Given the description of an element on the screen output the (x, y) to click on. 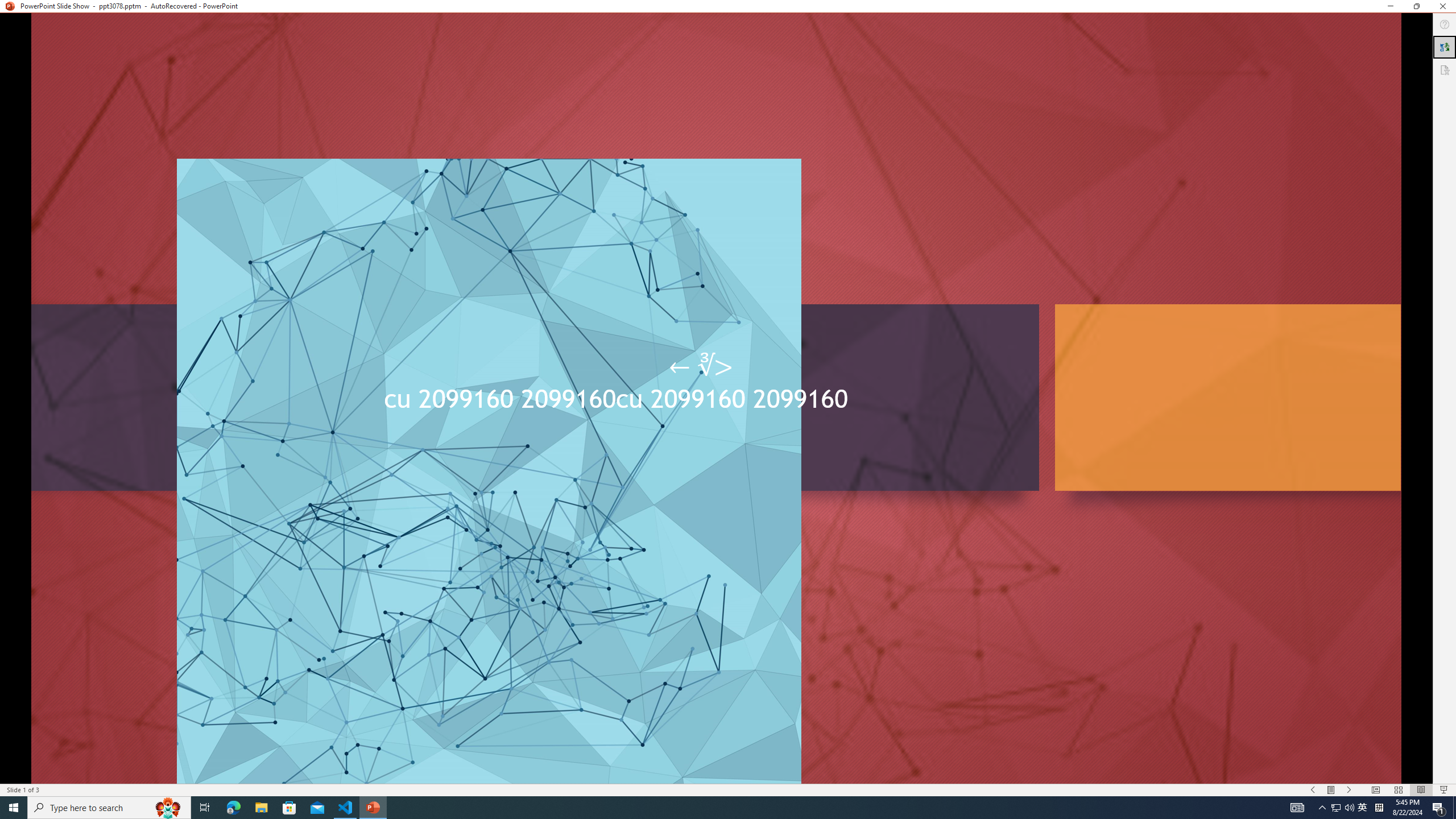
Menu On (1331, 790)
Slide Show Previous On (1313, 790)
Class: MsoCommandBar (728, 789)
Translator (1444, 47)
Slide Show Next On (1349, 790)
